Given the description of an element on the screen output the (x, y) to click on. 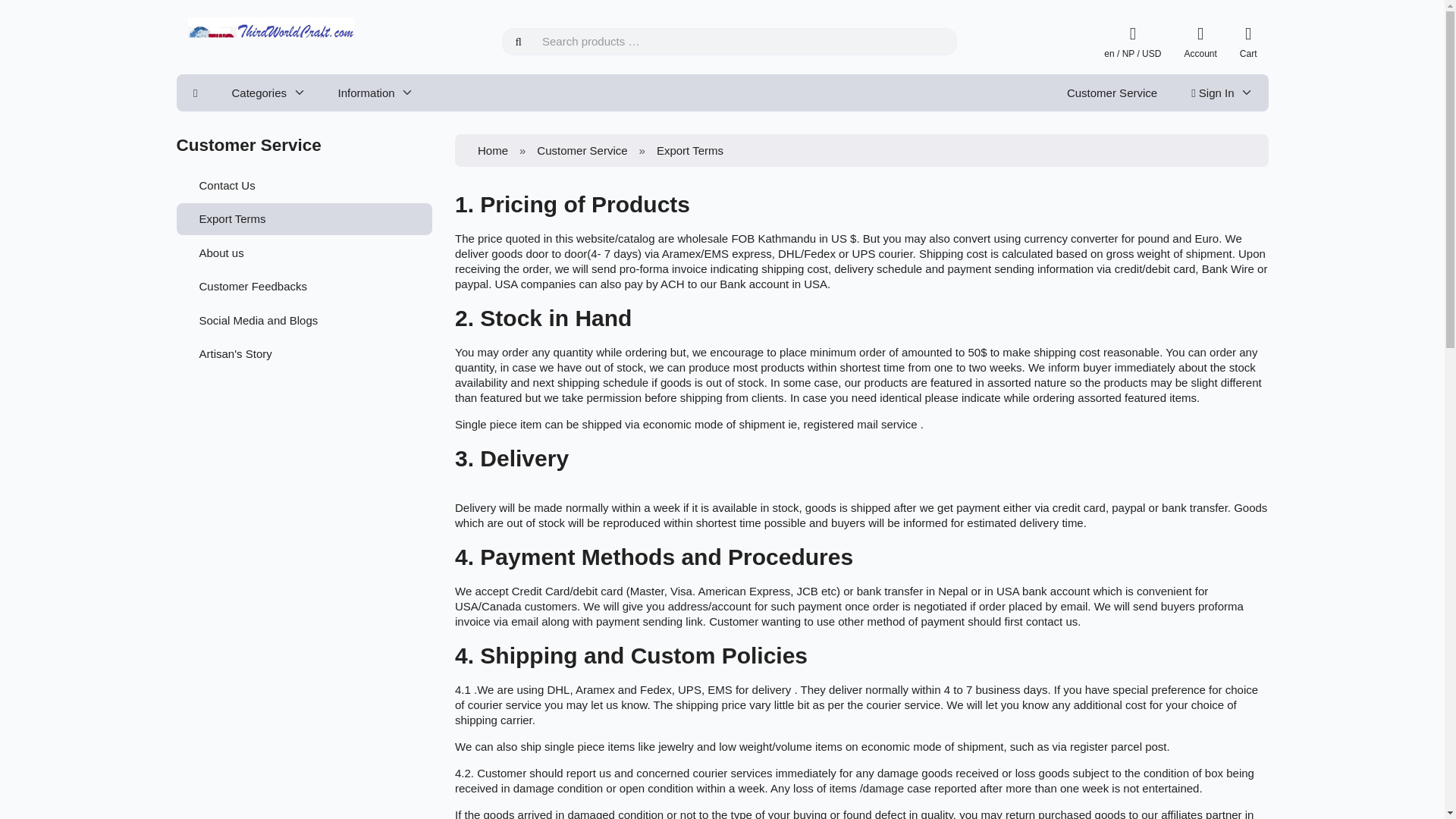
About us (304, 252)
Customer Feedbacks (304, 286)
Contact Us (304, 184)
Sign In (1221, 93)
Export Terms (304, 219)
Customer Service (1111, 93)
Sign In (1163, 216)
Categories (267, 93)
Information (374, 93)
Social Media and Blogs (304, 319)
